Given the description of an element on the screen output the (x, y) to click on. 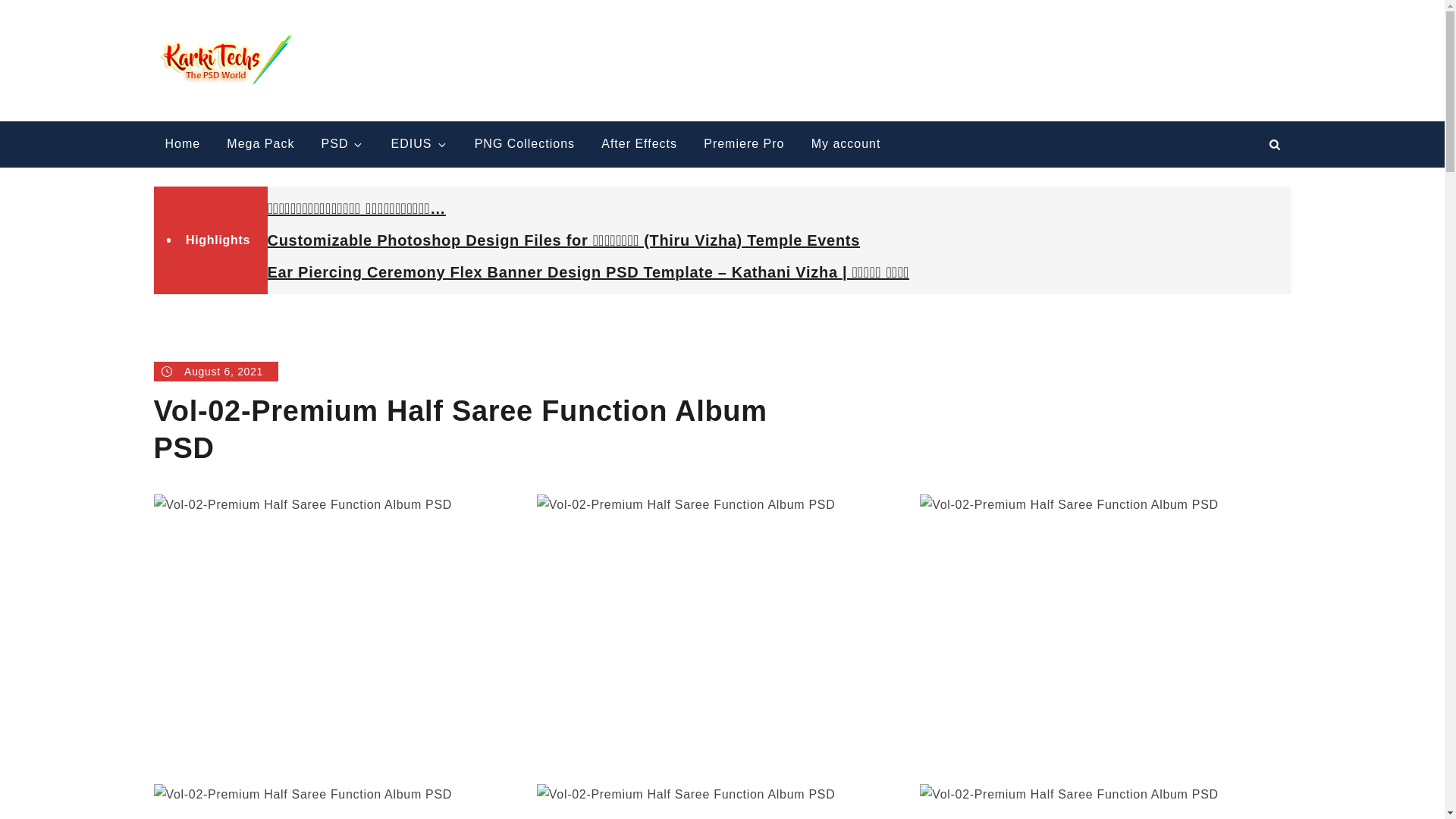
Vol-02-Premium Half Saree Function Album PSD (338, 633)
Vol-02-Premium Half Saree Function Album PSD (338, 801)
Mega Pack (260, 144)
Home (181, 144)
Vol-02-Premium Half Saree Function Album PSD (1105, 633)
PNG Collections (524, 144)
August 6, 2021 (215, 371)
Premiere Pro (743, 144)
Vol-02-Premium Half Saree Function Album PSD (722, 801)
EDIUS (420, 144)
Karki Techs (375, 46)
Vol-02-Premium Half Saree Function Album PSD (722, 633)
Vol-02-Premium Half Saree Function Album PSD (1105, 801)
My account (845, 144)
After Effects (638, 144)
